Given the description of an element on the screen output the (x, y) to click on. 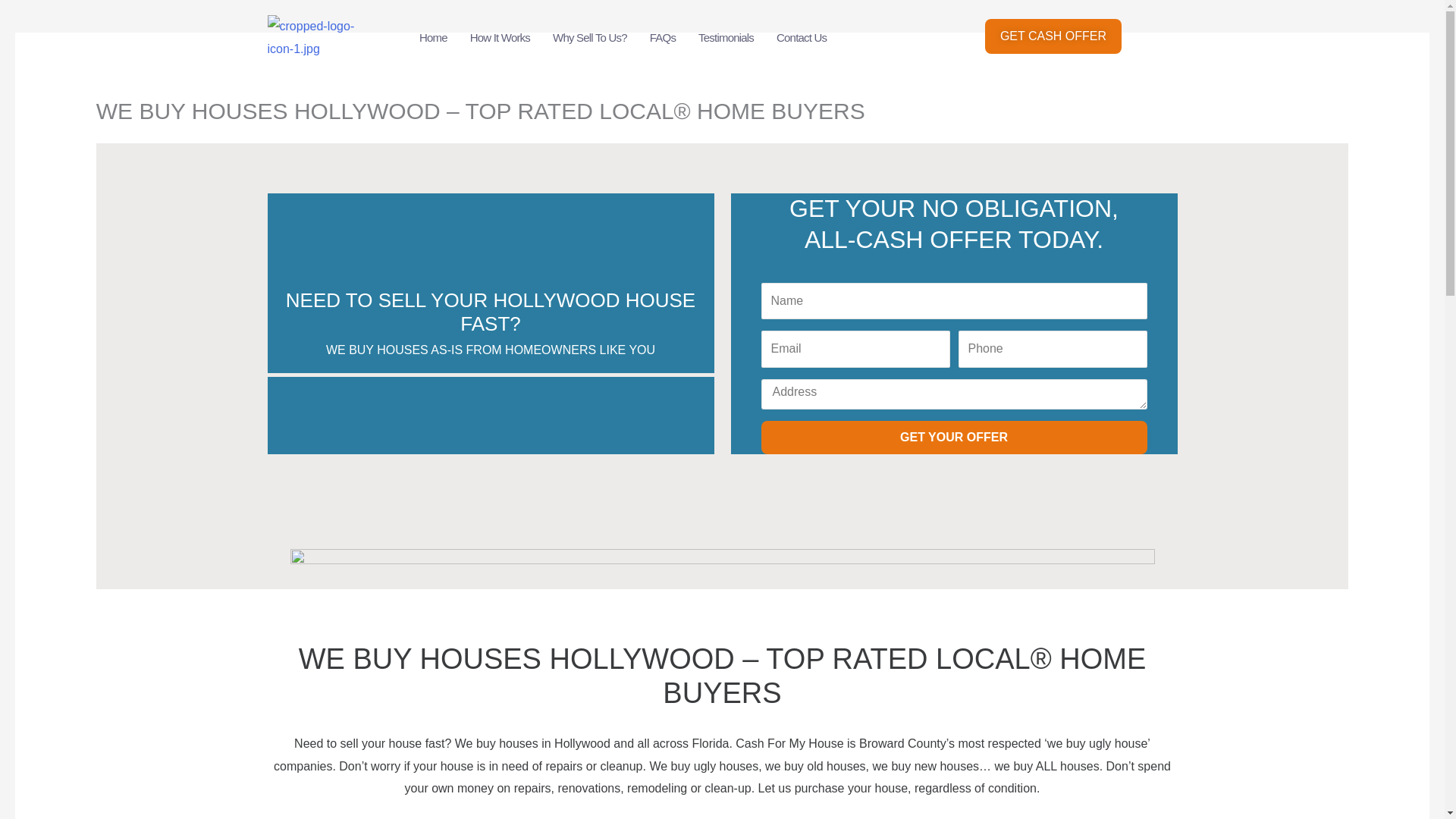
GET YOUR OFFER (954, 437)
GET CASH OFFER (1053, 36)
FAQs (663, 37)
Testimonials (726, 37)
Home (432, 37)
cropped-logo-icon-1.jpg (317, 37)
Why Sell To Us? (590, 37)
Contact Us (801, 37)
How It Works (499, 37)
